Given the description of an element on the screen output the (x, y) to click on. 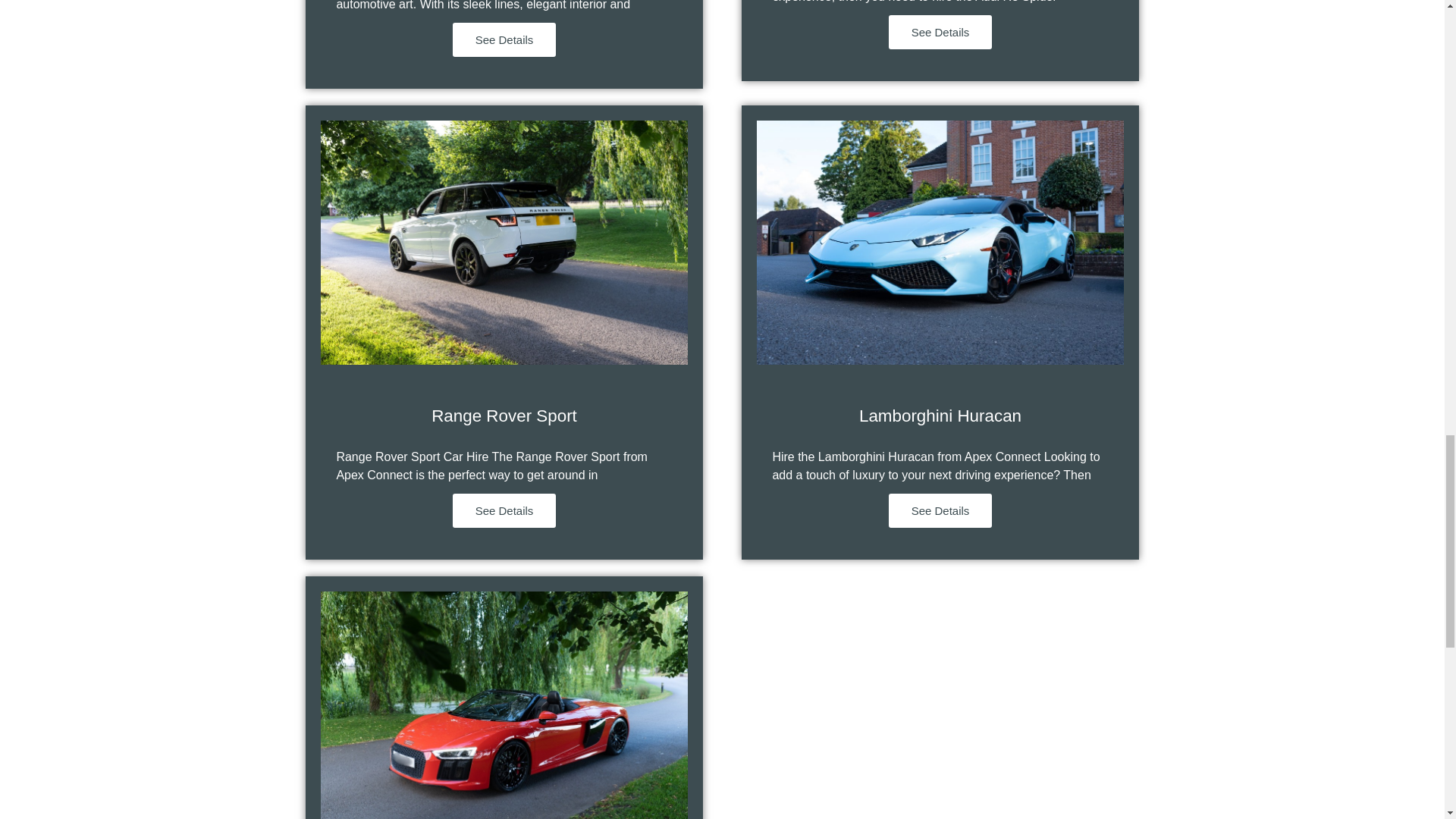
See Details (504, 39)
See Details (940, 31)
See Details (504, 510)
Range Rover Sport (503, 415)
